Given the description of an element on the screen output the (x, y) to click on. 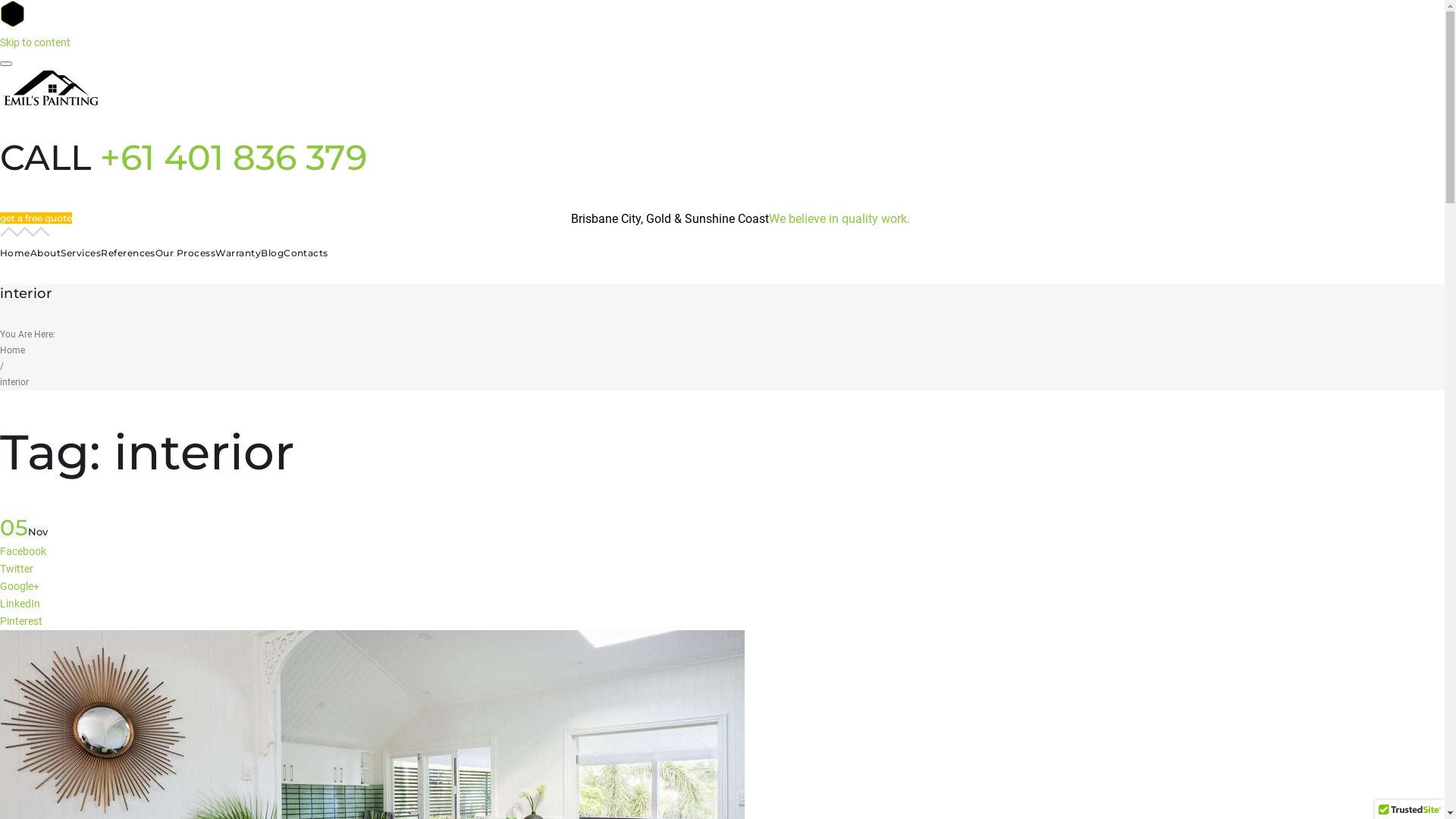
References Element type: text (127, 252)
Skip to content Element type: text (35, 42)
+61 401 836 379 Element type: text (233, 156)
Google+ Element type: text (19, 586)
get a free quote Element type: text (36, 217)
05Nov Element type: text (23, 531)
Home Element type: text (15, 252)
Facebook Element type: text (23, 551)
Our Process Element type: text (185, 252)
Contacts Element type: text (305, 252)
Twitter Element type: text (16, 568)
Pinterest Element type: text (21, 621)
About Element type: text (45, 252)
Blog Element type: text (271, 252)
Warranty Element type: text (237, 252)
Home Element type: text (12, 350)
Services Element type: text (80, 252)
LinkedIn Element type: text (20, 603)
